Given the description of an element on the screen output the (x, y) to click on. 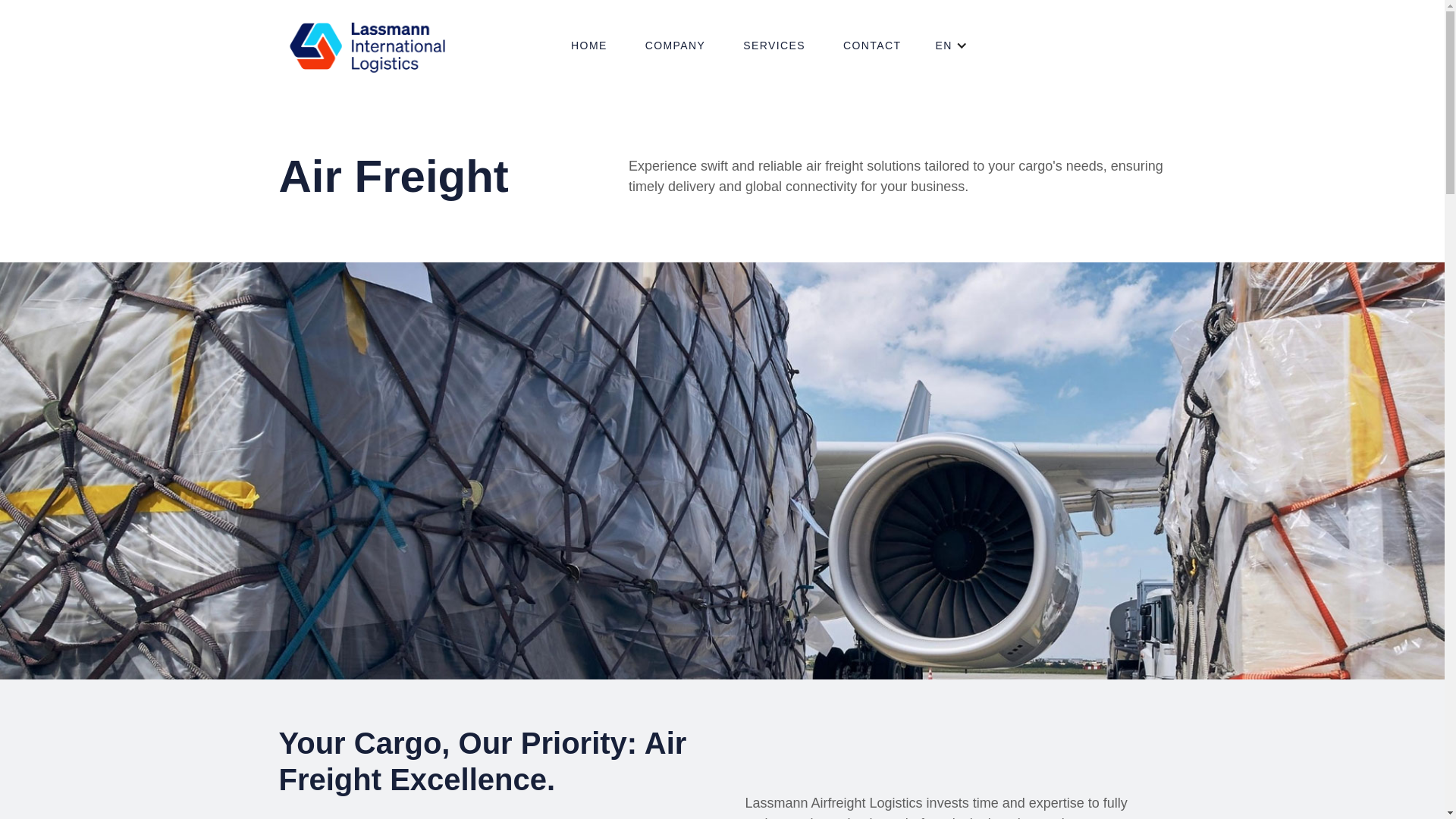
CONTACT (872, 45)
HOME (588, 45)
SERVICES (773, 45)
